Given the description of an element on the screen output the (x, y) to click on. 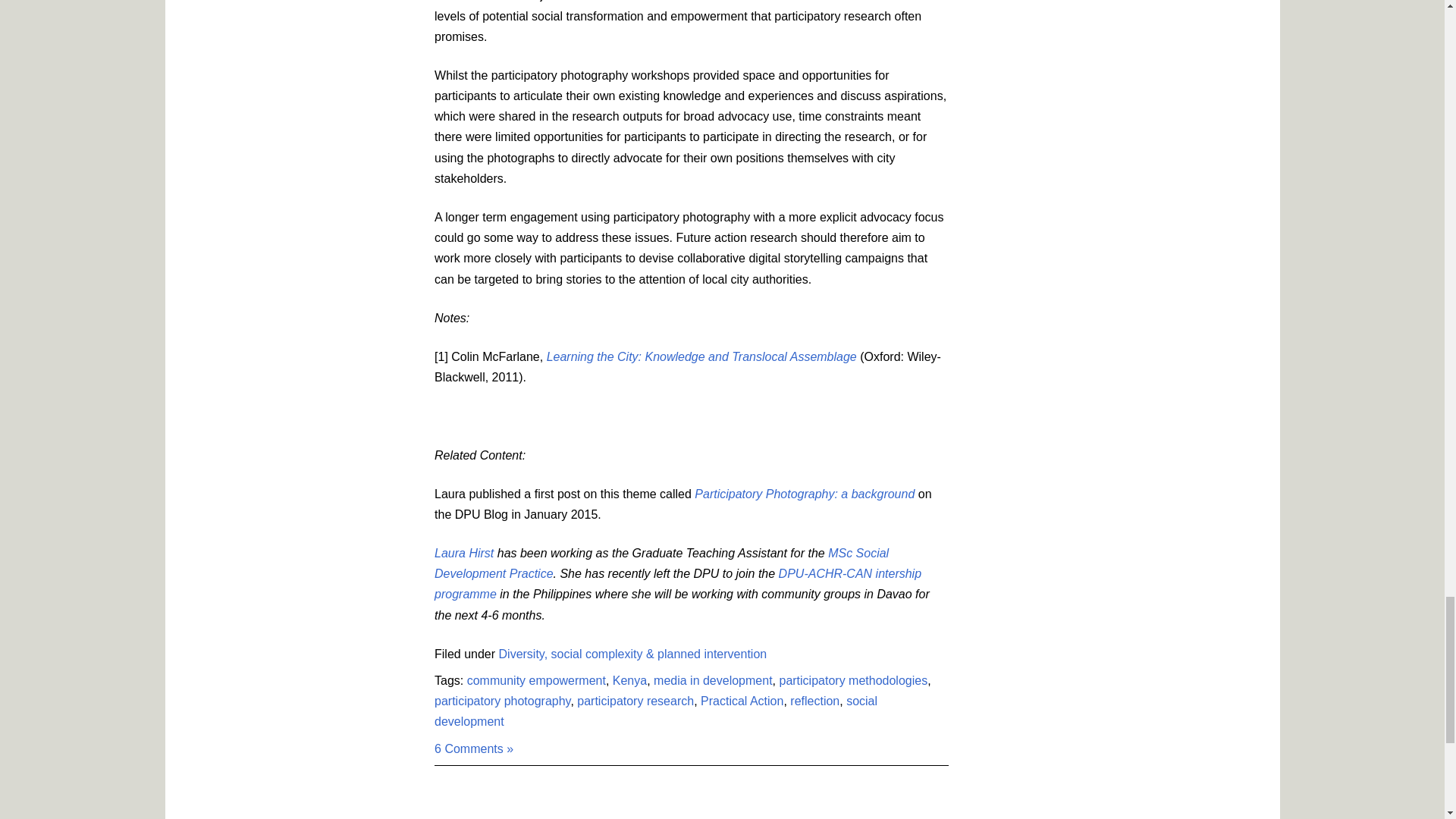
MSc Social Development Practice at the DPU (660, 563)
Email Laura (463, 553)
DPU-ACHR-CAN Junior Professional internship programme launch (677, 583)
